Given the description of an element on the screen output the (x, y) to click on. 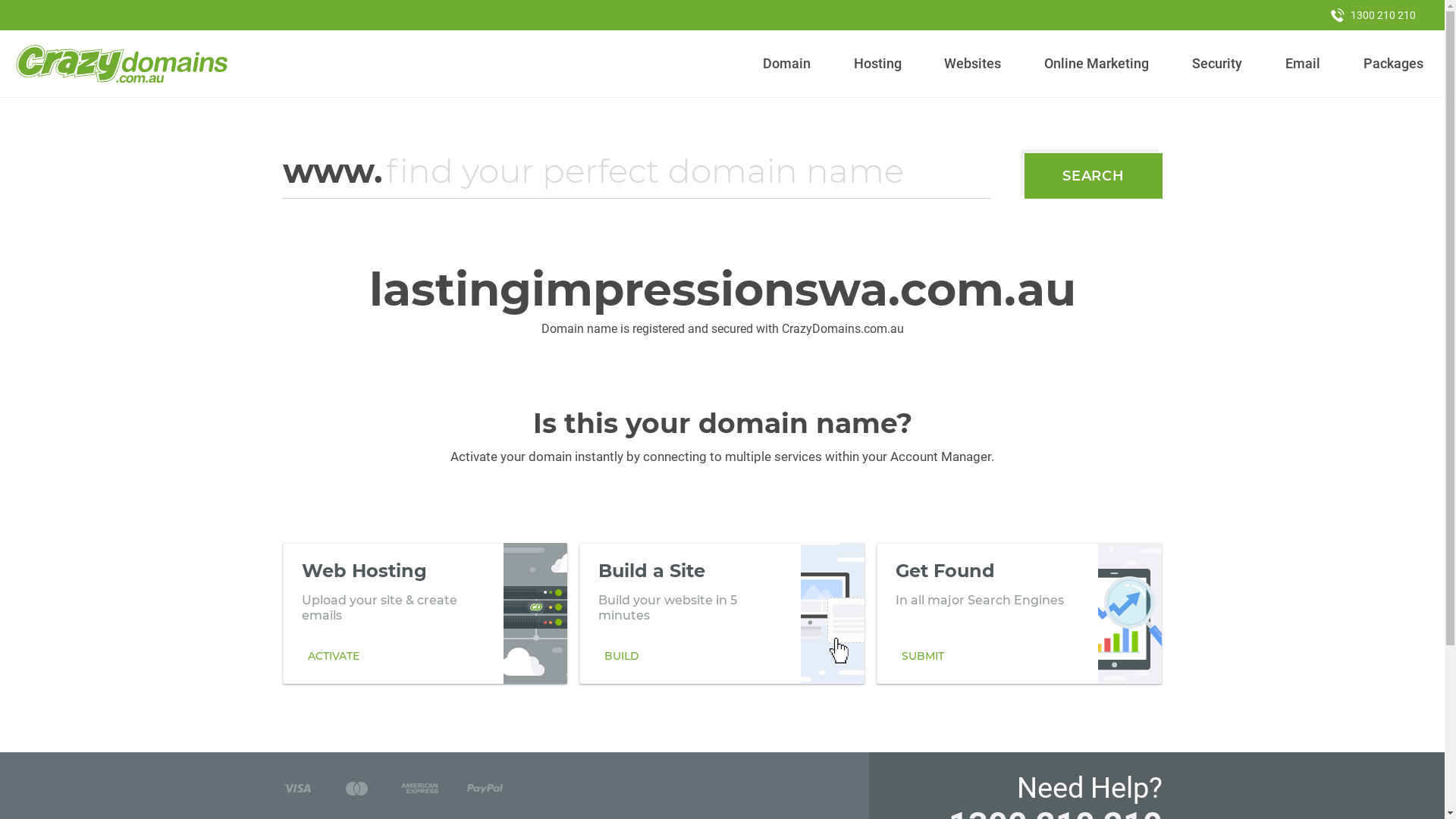
Packages Element type: text (1392, 63)
Security Element type: text (1217, 63)
Build a Site
Build your website in 5 minutes
BUILD Element type: text (721, 613)
Get Found
In all major Search Engines
SUBMIT Element type: text (1018, 613)
SEARCH Element type: text (1092, 175)
Online Marketing Element type: text (1096, 63)
Web Hosting
Upload your site & create emails
ACTIVATE Element type: text (424, 613)
Websites Element type: text (972, 63)
Email Element type: text (1302, 63)
Hosting Element type: text (877, 63)
Domain Element type: text (786, 63)
1300 210 210 Element type: text (1373, 15)
